Given the description of an element on the screen output the (x, y) to click on. 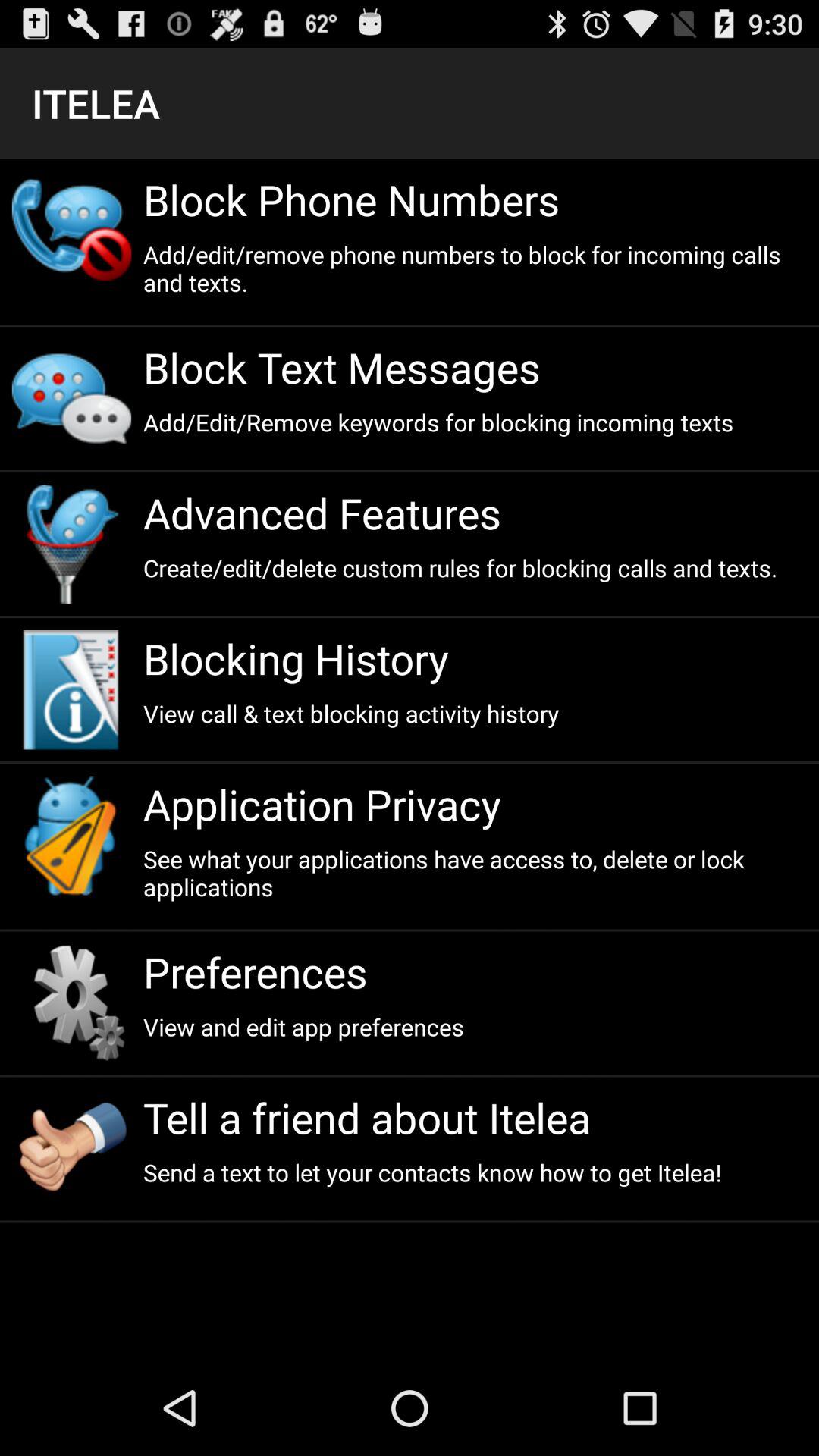
press app below blocking history app (475, 713)
